Given the description of an element on the screen output the (x, y) to click on. 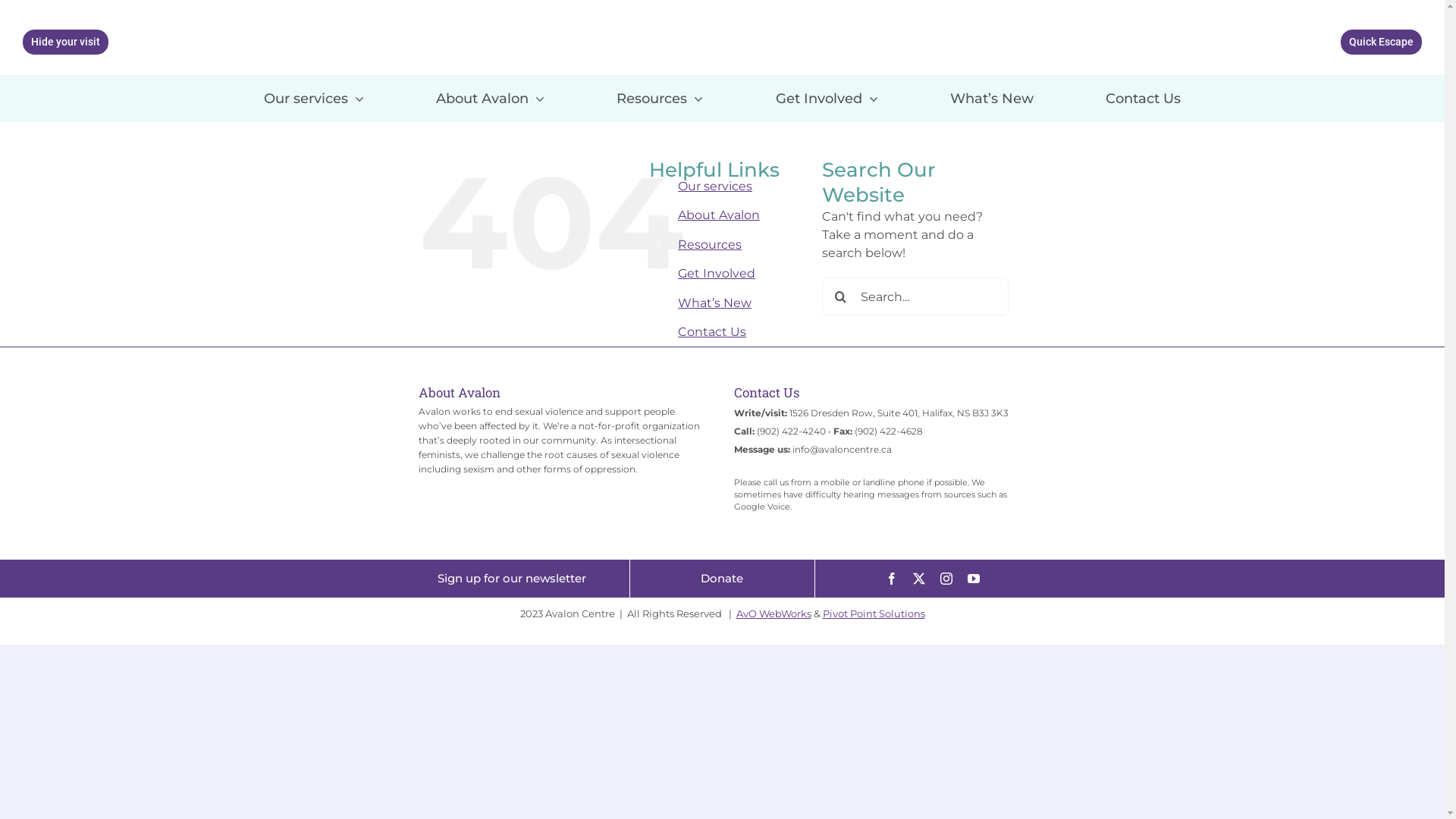
YouTube Element type: hover (973, 578)
Contact Us Element type: text (711, 331)
Our services Element type: text (313, 90)
Contact Us Element type: text (1142, 90)
Hide your visit Element type: text (65, 41)
Quick Escape Element type: text (1380, 41)
Instagram Element type: hover (946, 578)
Twitter Element type: hover (919, 578)
Our services Element type: text (714, 185)
Sign up for our newsletter Element type: text (511, 578)
About Avalon Element type: text (718, 214)
Donate Element type: text (721, 578)
About Avalon Element type: text (490, 90)
Get Involved Element type: text (826, 90)
Resources Element type: text (709, 244)
Facebook Element type: hover (891, 578)
Resources Element type: text (659, 90)
Get Involved Element type: text (716, 273)
Pivot Point Solutions Element type: text (873, 613)
AvO WebWorks Element type: text (772, 613)
